Given the description of an element on the screen output the (x, y) to click on. 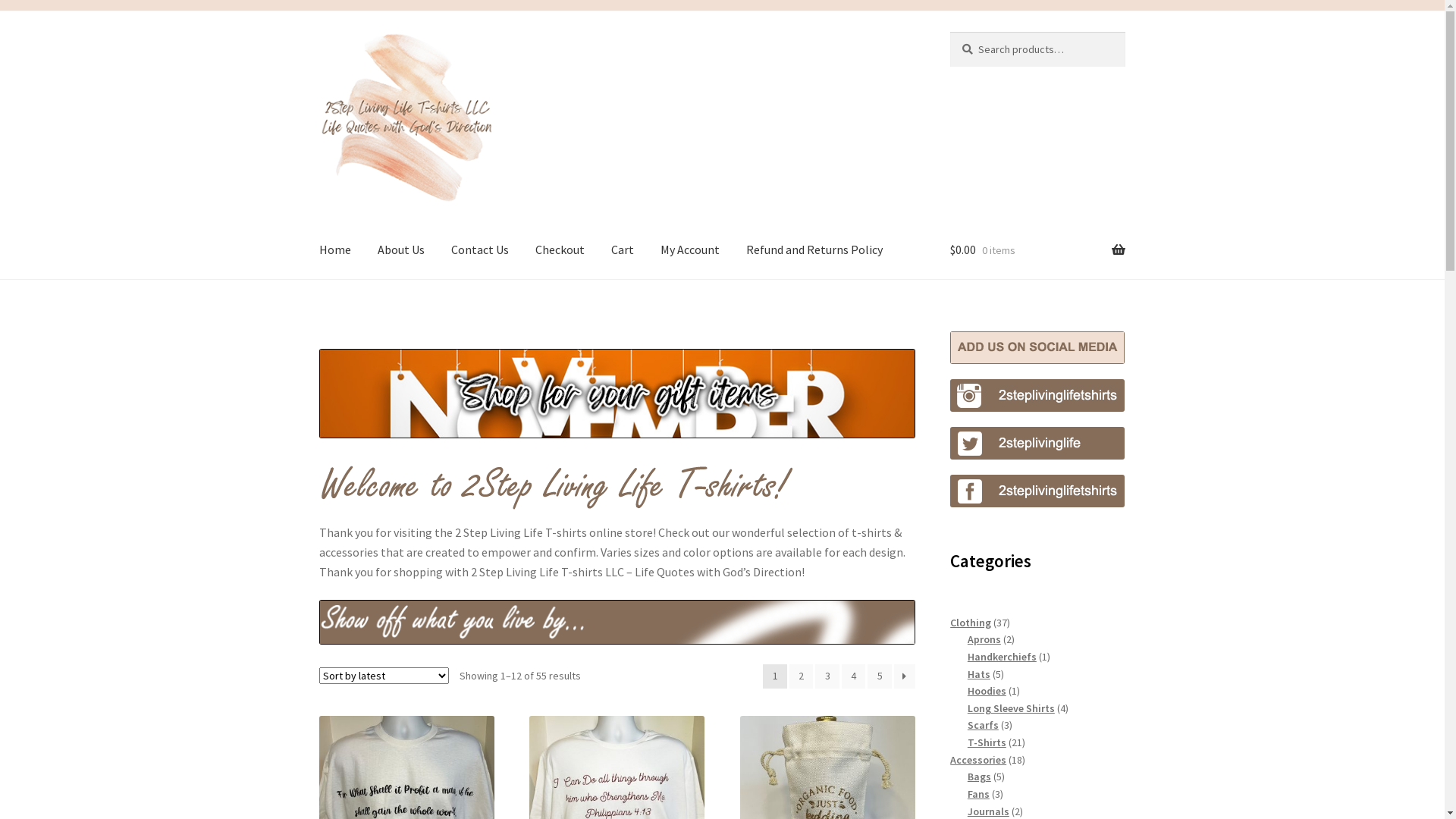
My Account Element type: text (689, 249)
Hats Element type: text (978, 673)
Journals Element type: text (988, 811)
Accessories Element type: text (978, 759)
Cart Element type: text (622, 249)
T-Shirts Element type: text (986, 742)
$0.00 0 items Element type: text (1037, 249)
Aprons Element type: text (984, 639)
5 Element type: text (879, 676)
Bags Element type: text (979, 776)
2 Element type: text (801, 676)
Checkout Element type: text (559, 249)
Search Element type: text (949, 31)
About Us Element type: text (400, 249)
Handkerchiefs Element type: text (1001, 656)
Refund and Returns Policy Element type: text (814, 249)
Scarfs Element type: text (982, 724)
4 Element type: text (853, 676)
Skip to navigation Element type: text (318, 31)
Hoodies Element type: text (986, 690)
Fans Element type: text (978, 793)
Clothing Element type: text (970, 622)
Home Element type: text (335, 249)
3 Element type: text (827, 676)
Long Sleeve Shirts Element type: text (1010, 708)
Contact Us Element type: text (479, 249)
